Given the description of an element on the screen output the (x, y) to click on. 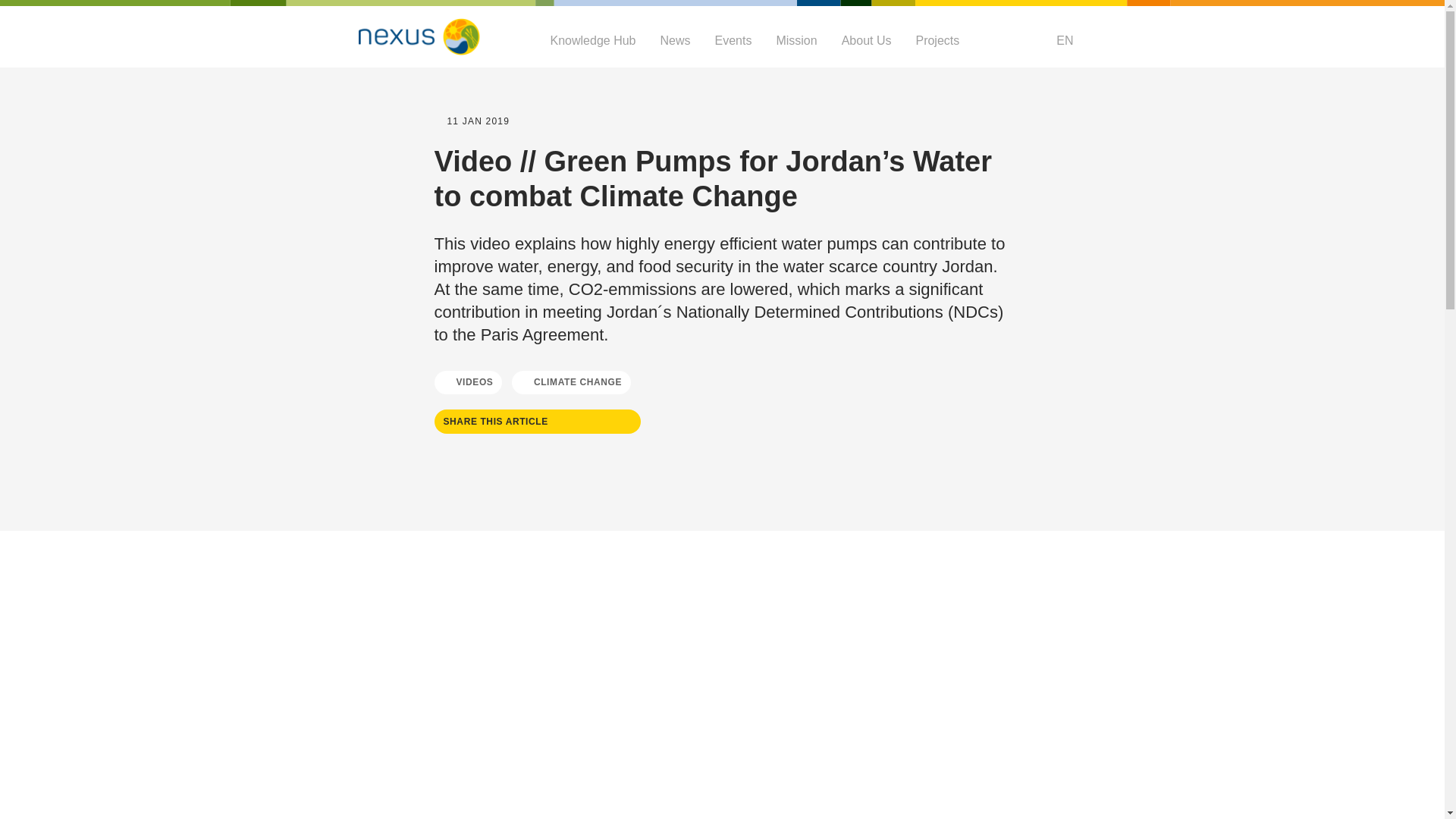
News (674, 40)
Mission (796, 40)
Knowledge Hub (593, 40)
Events (732, 40)
About Us (866, 40)
EN (1062, 40)
